Given the description of an element on the screen output the (x, y) to click on. 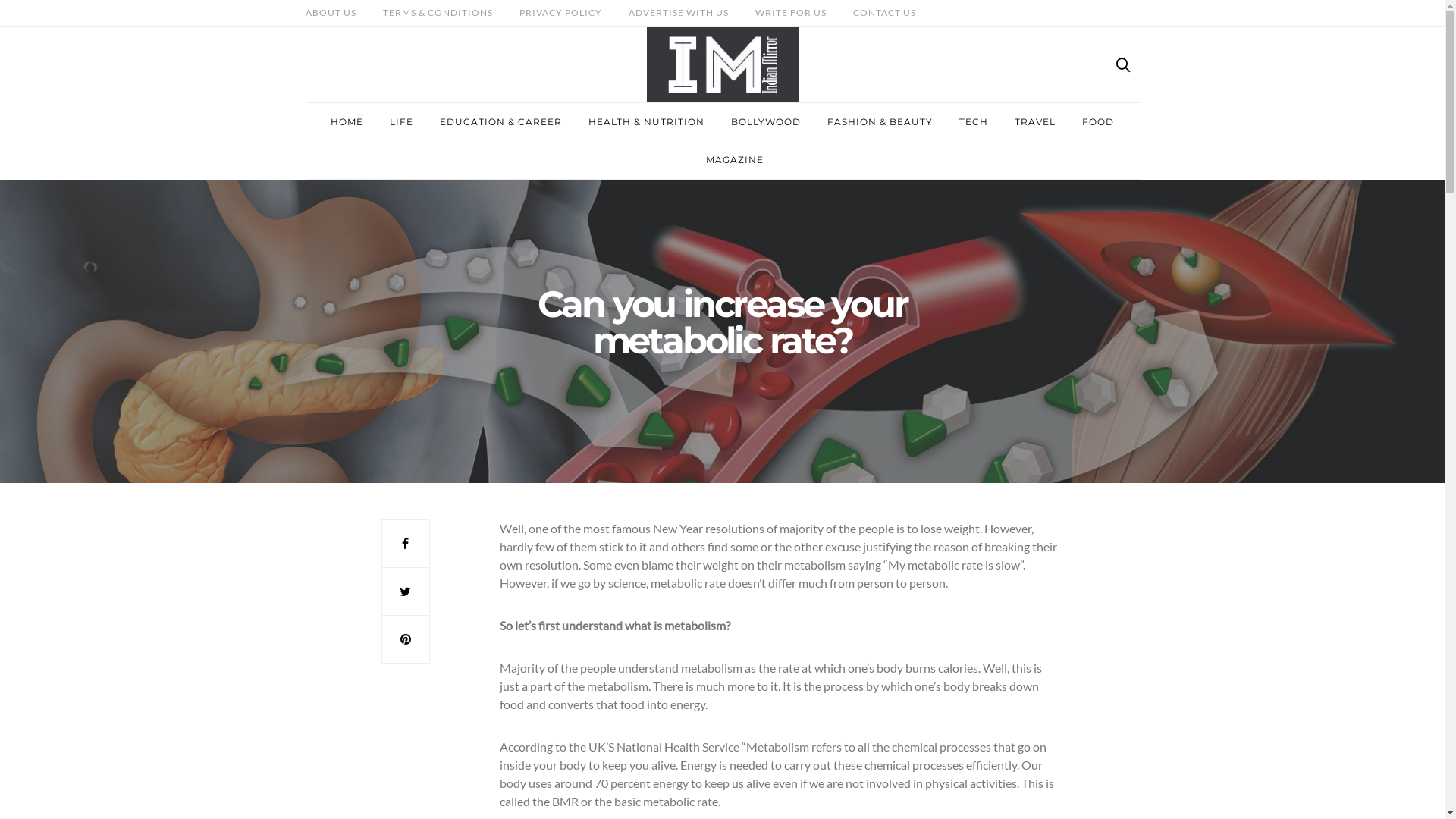
TECH Element type: text (973, 122)
MAGAZINE Element type: text (733, 159)
ABOUT US Element type: text (329, 12)
WRITE FOR US Element type: text (790, 12)
HOME Element type: text (346, 122)
FOOD Element type: text (1097, 122)
TRAVEL Element type: text (1034, 122)
PRIVACY POLICY Element type: text (559, 12)
FASHION & BEAUTY Element type: text (879, 122)
EDUCATION & CAREER Element type: text (500, 122)
TERMS & CONDITIONS Element type: text (437, 12)
ADVERTISE WITH US Element type: text (677, 12)
LIFE Element type: text (401, 122)
CONTACT US Element type: text (883, 12)
BOLLYWOOD Element type: text (765, 122)
HEALTH & NUTRITION Element type: text (646, 122)
